Given the description of an element on the screen output the (x, y) to click on. 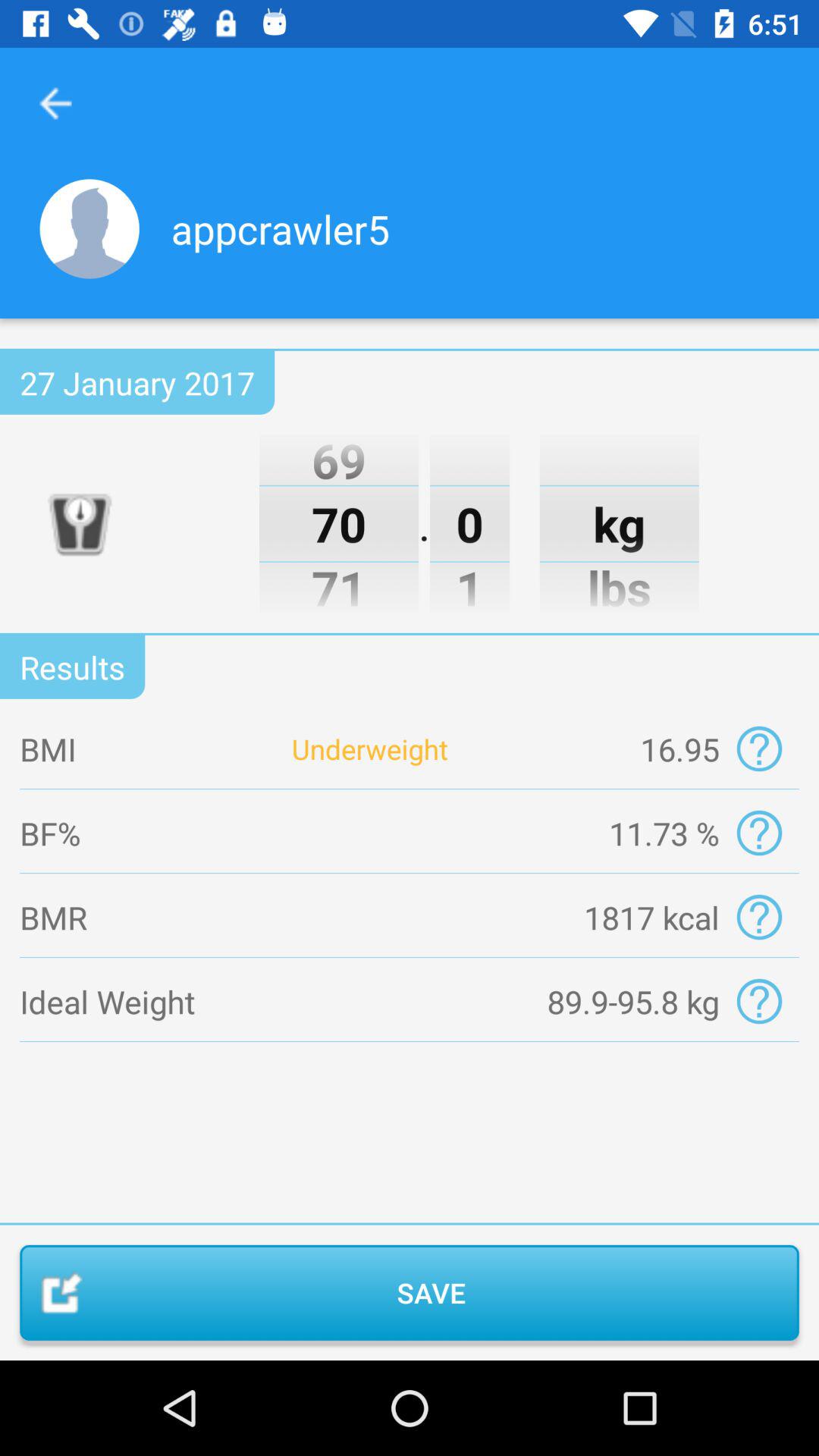
extra information (759, 833)
